Given the description of an element on the screen output the (x, y) to click on. 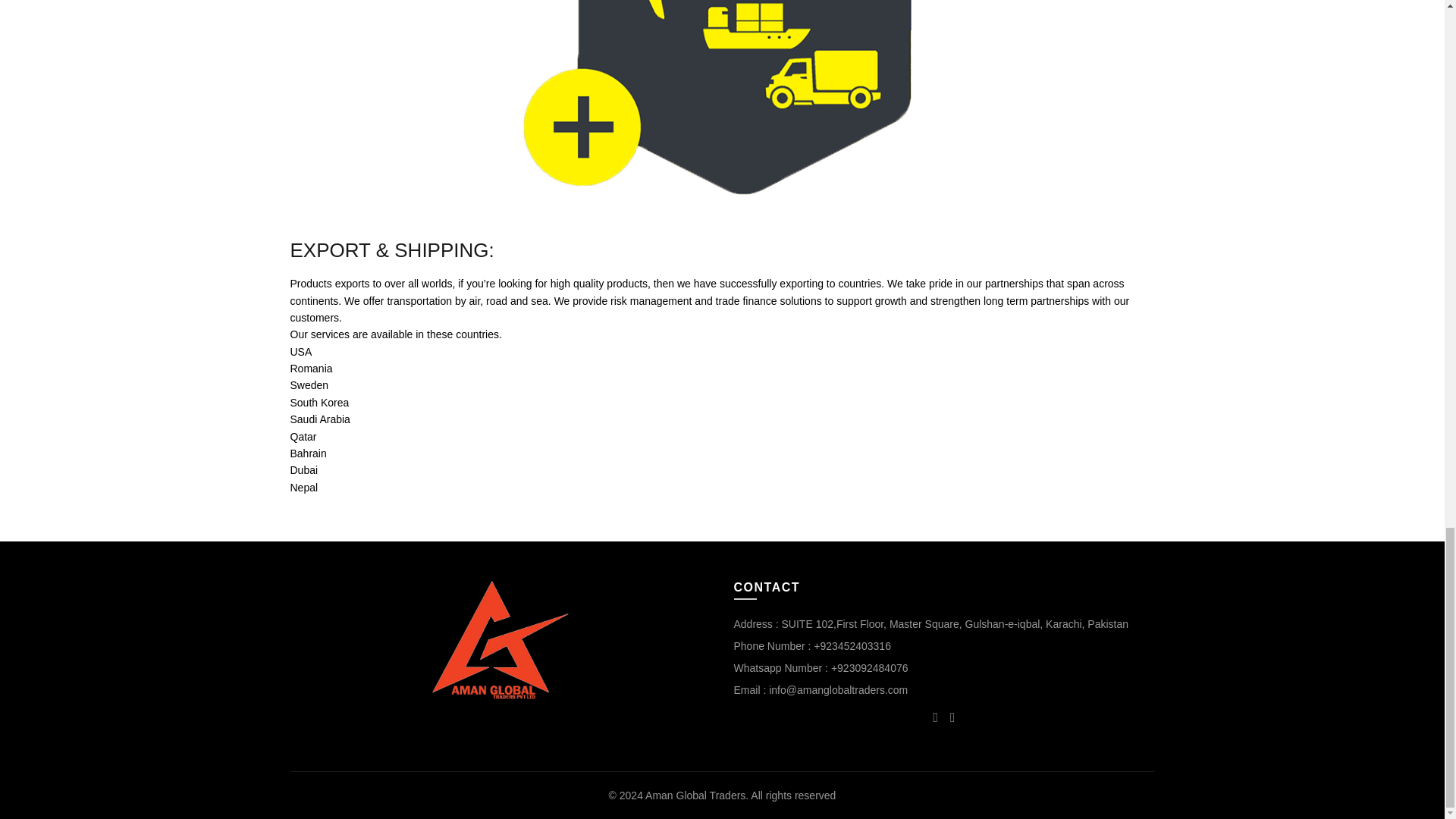
Basel and Co. (500, 640)
